Given the description of an element on the screen output the (x, y) to click on. 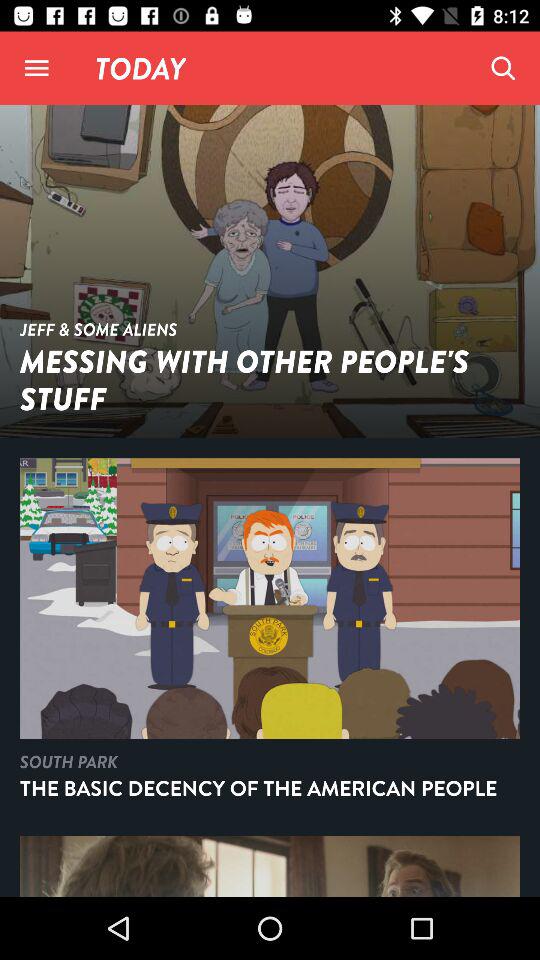
options menu (36, 68)
